Given the description of an element on the screen output the (x, y) to click on. 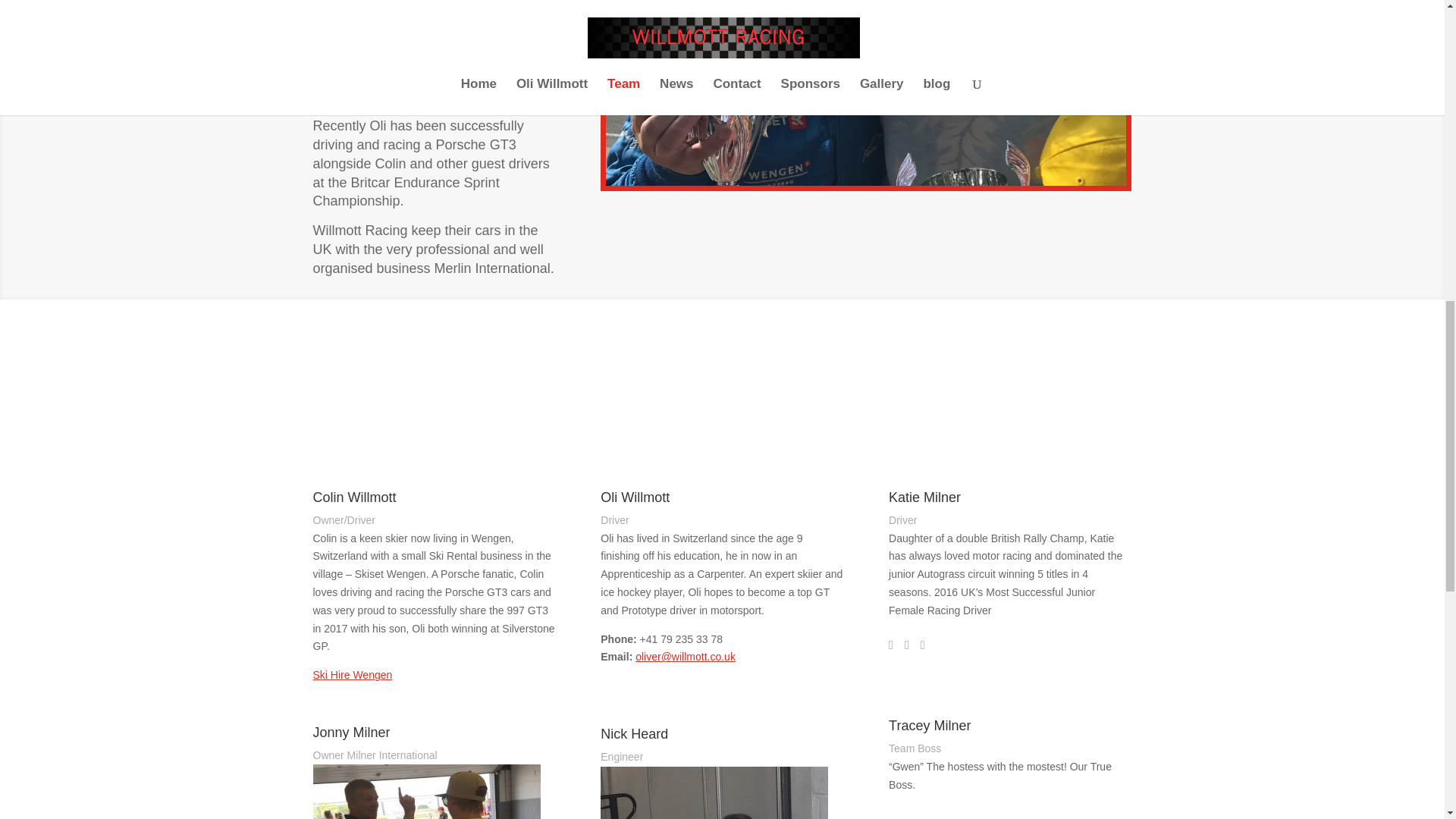
Ski Hire Wengen (352, 674)
